Given the description of an element on the screen output the (x, y) to click on. 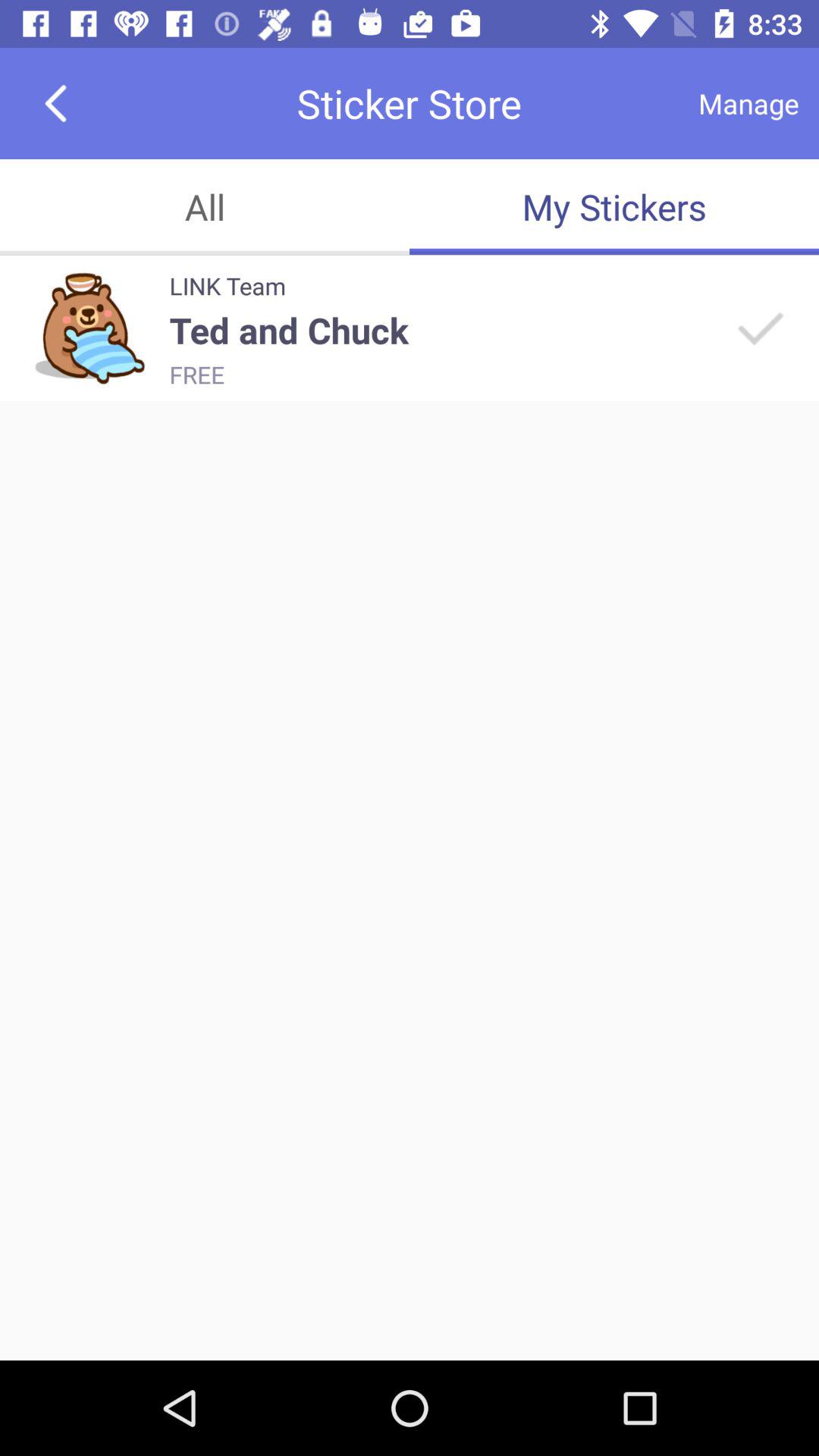
scroll until the manage app (748, 103)
